Given the description of an element on the screen output the (x, y) to click on. 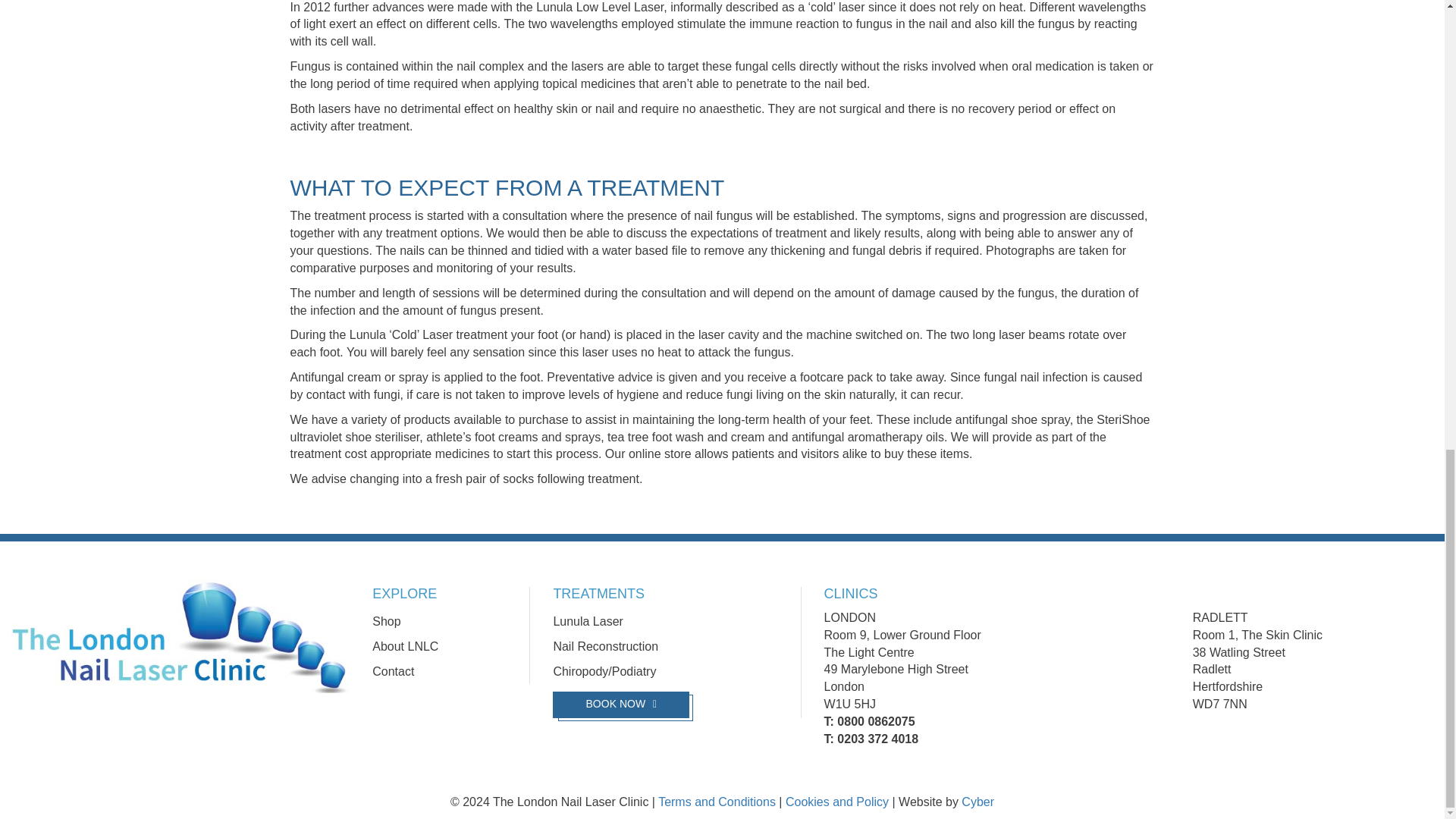
About LNLC (405, 645)
Cyber (977, 801)
BOOK NOW (620, 704)
Nail Reconstruction (605, 645)
Terms and Conditions (717, 801)
Lunula Laser (588, 621)
Cookies and Policy (837, 801)
T: 0800 0862075 (869, 721)
Contact (392, 671)
Shop (386, 621)
